Given the description of an element on the screen output the (x, y) to click on. 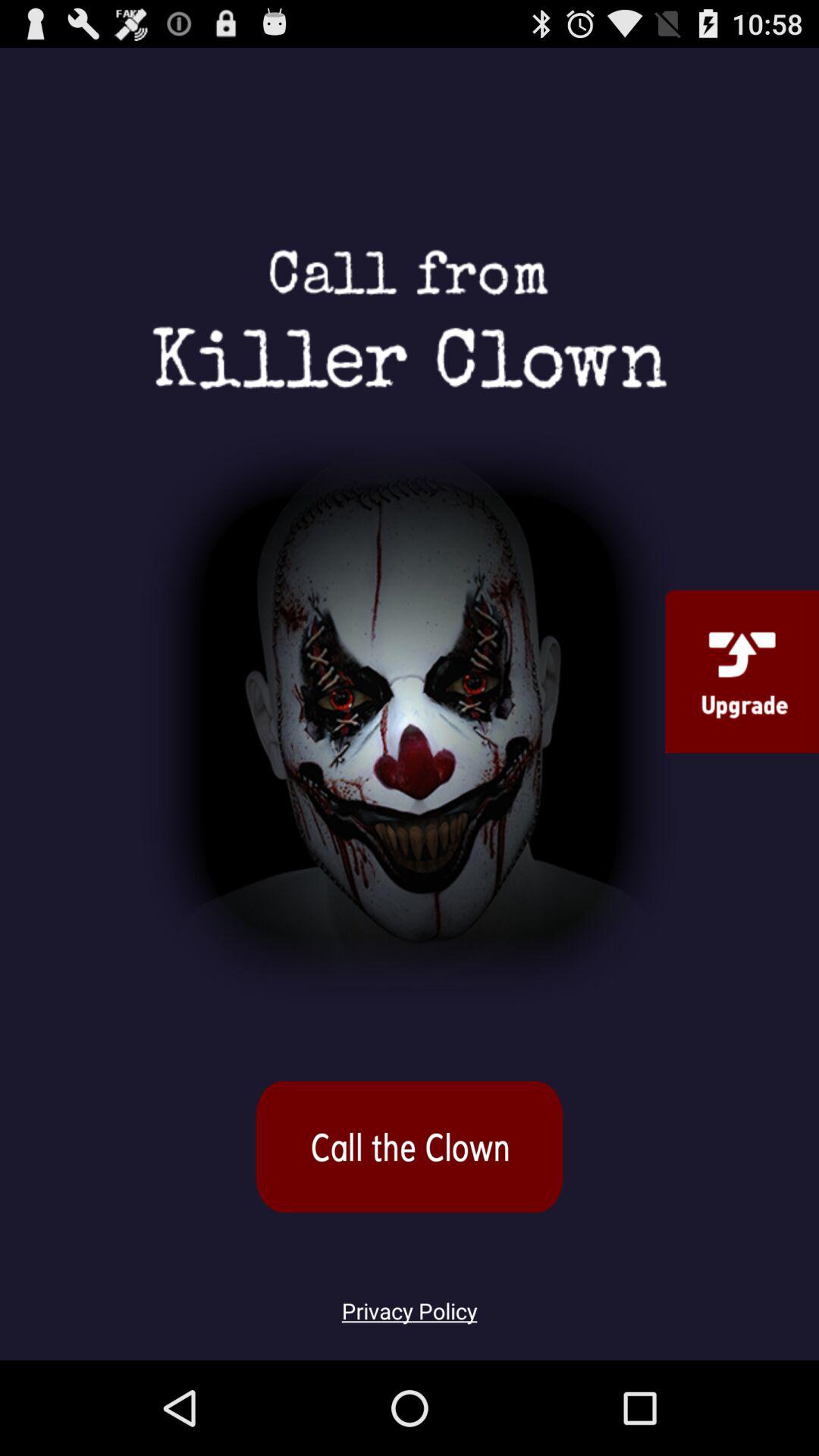
launch privacy policy app (409, 1302)
